Given the description of an element on the screen output the (x, y) to click on. 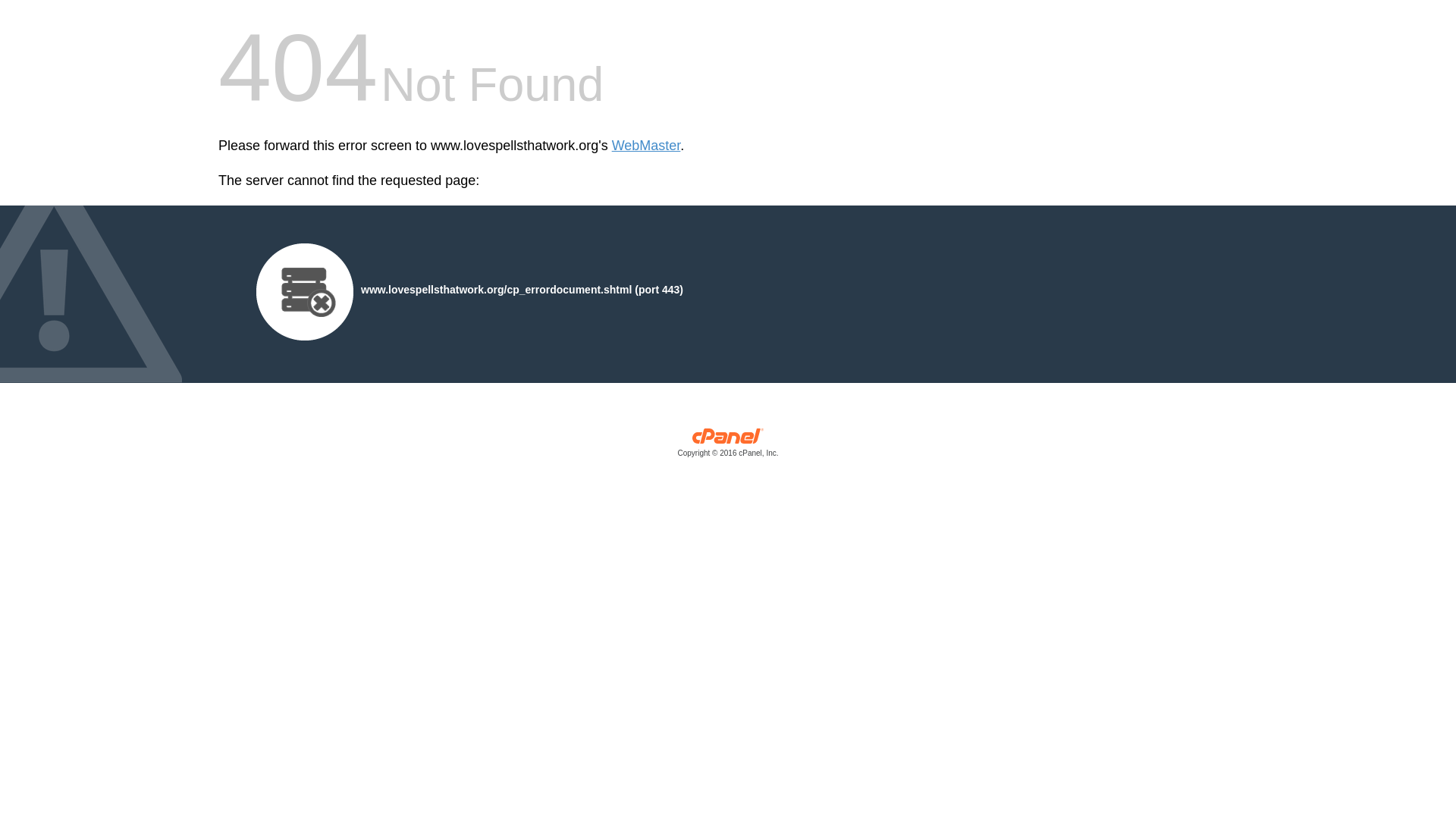
cPanel, Inc. (727, 446)
WebMaster (646, 145)
